Given the description of an element on the screen output the (x, y) to click on. 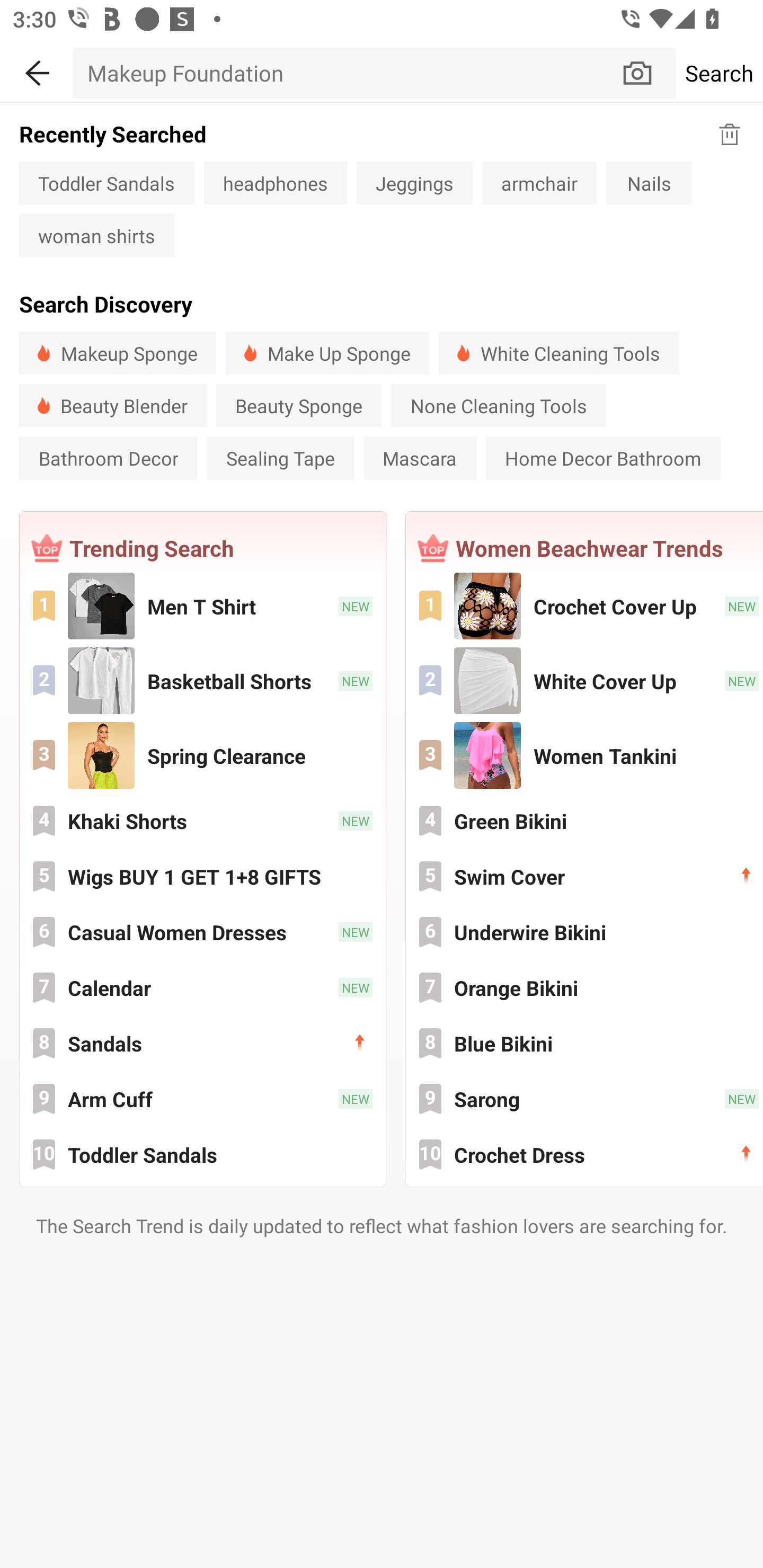
BACK (36, 69)
Makeup Foundation (346, 72)
Search (719, 72)
Toddler Sandals (106, 182)
headphones (275, 182)
Jeggings (414, 182)
armchair (539, 182)
Nails (648, 182)
woman shirts (96, 235)
Makeup Sponge (117, 352)
Make Up Sponge (326, 352)
White Cleaning Tools (558, 352)
Beauty Blender (112, 405)
Beauty Sponge (298, 405)
None Cleaning Tools (497, 405)
Bathroom Decor (107, 457)
Sealing Tape (280, 457)
Mascara (419, 457)
Home Decor Bathroom (603, 457)
Men T Shirt 1 Men T Shirt NEW (202, 605)
Crochet Cover Up 1 Crochet Cover Up NEW (584, 605)
Basketball Shorts 2 Basketball Shorts NEW (202, 680)
White Cover Up 2 White Cover Up NEW (584, 680)
Spring Clearance 3 Spring Clearance (202, 754)
Women Tankini 3 Women Tankini (584, 754)
Khaki Shorts 4 Khaki Shorts NEW (202, 820)
Green Bikini 4 Green Bikini (584, 820)
Swim Cover 5 Swim Cover (584, 876)
Casual Women Dresses 6 Casual Women Dresses NEW (202, 930)
Underwire Bikini 6 Underwire Bikini (584, 930)
Calendar 7 Calendar NEW (202, 987)
Orange Bikini 7 Orange Bikini (584, 987)
Sandals 8 Sandals (202, 1042)
Blue Bikini 8 Blue Bikini (584, 1042)
Arm Cuff 9 Arm Cuff NEW (202, 1098)
Sarong 9 Sarong NEW (584, 1098)
Toddler Sandals 10 Toddler Sandals (202, 1153)
Crochet Dress 10 Crochet Dress (584, 1153)
